Given the description of an element on the screen output the (x, y) to click on. 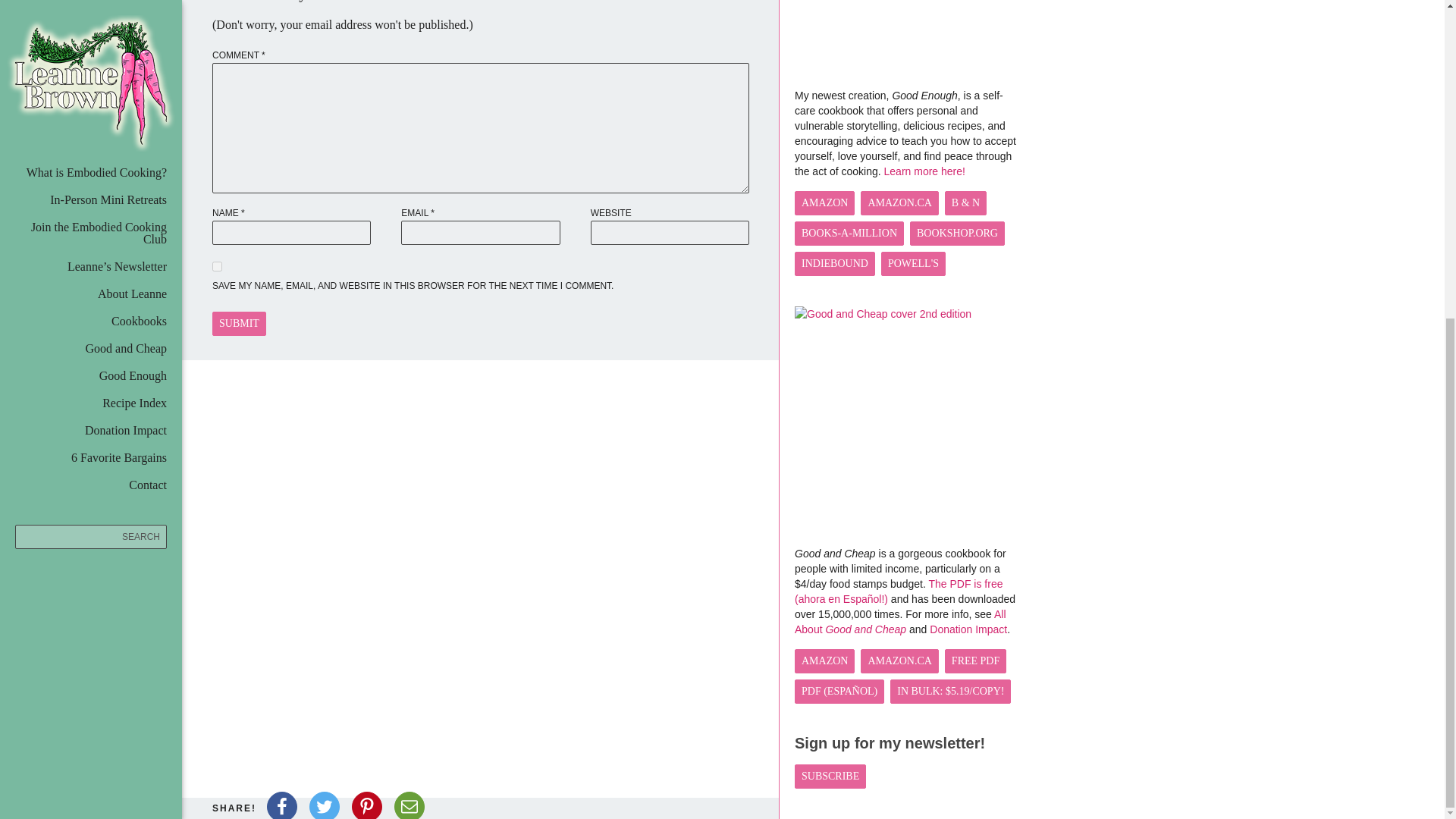
Submit (239, 323)
BOOKS-A-MILLION (849, 233)
SEARCH (90, 22)
BOOKSHOP.ORG (957, 233)
AMAZON (824, 202)
SEARCH (90, 22)
yes (217, 266)
AMAZON.CA (898, 202)
Submit (239, 323)
Learn more here! (924, 171)
